Given the description of an element on the screen output the (x, y) to click on. 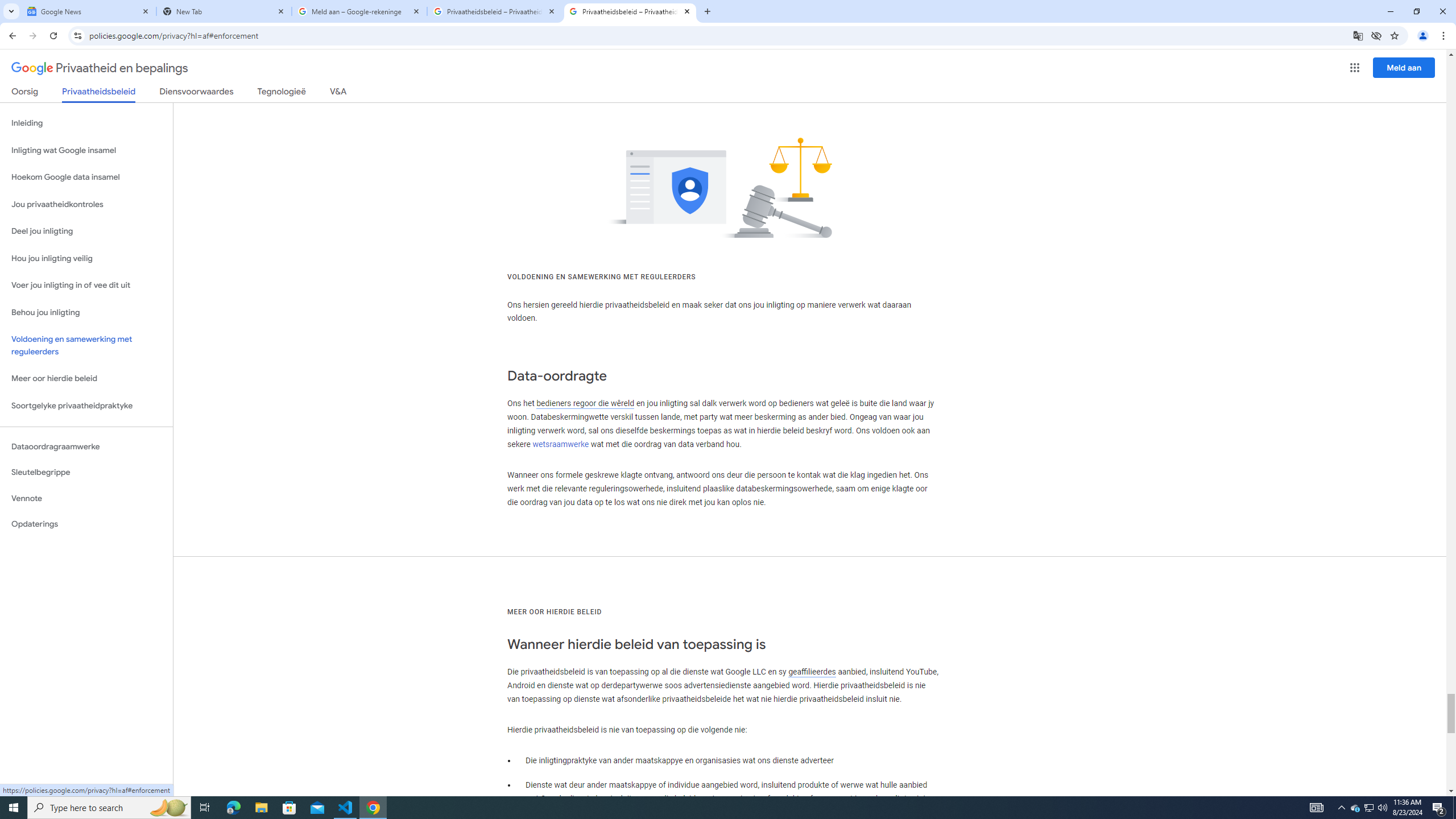
New Tab (224, 11)
V&A (337, 93)
Opdaterings (86, 524)
Voldoening en samewerking met reguleerders (86, 345)
Vennote (86, 497)
Inleiding (86, 122)
Deel jou inligting (86, 230)
Behou jou inligting (86, 312)
Soortgelyke privaatheidpraktyke (86, 405)
wetsraamwerke (560, 444)
